Given the description of an element on the screen output the (x, y) to click on. 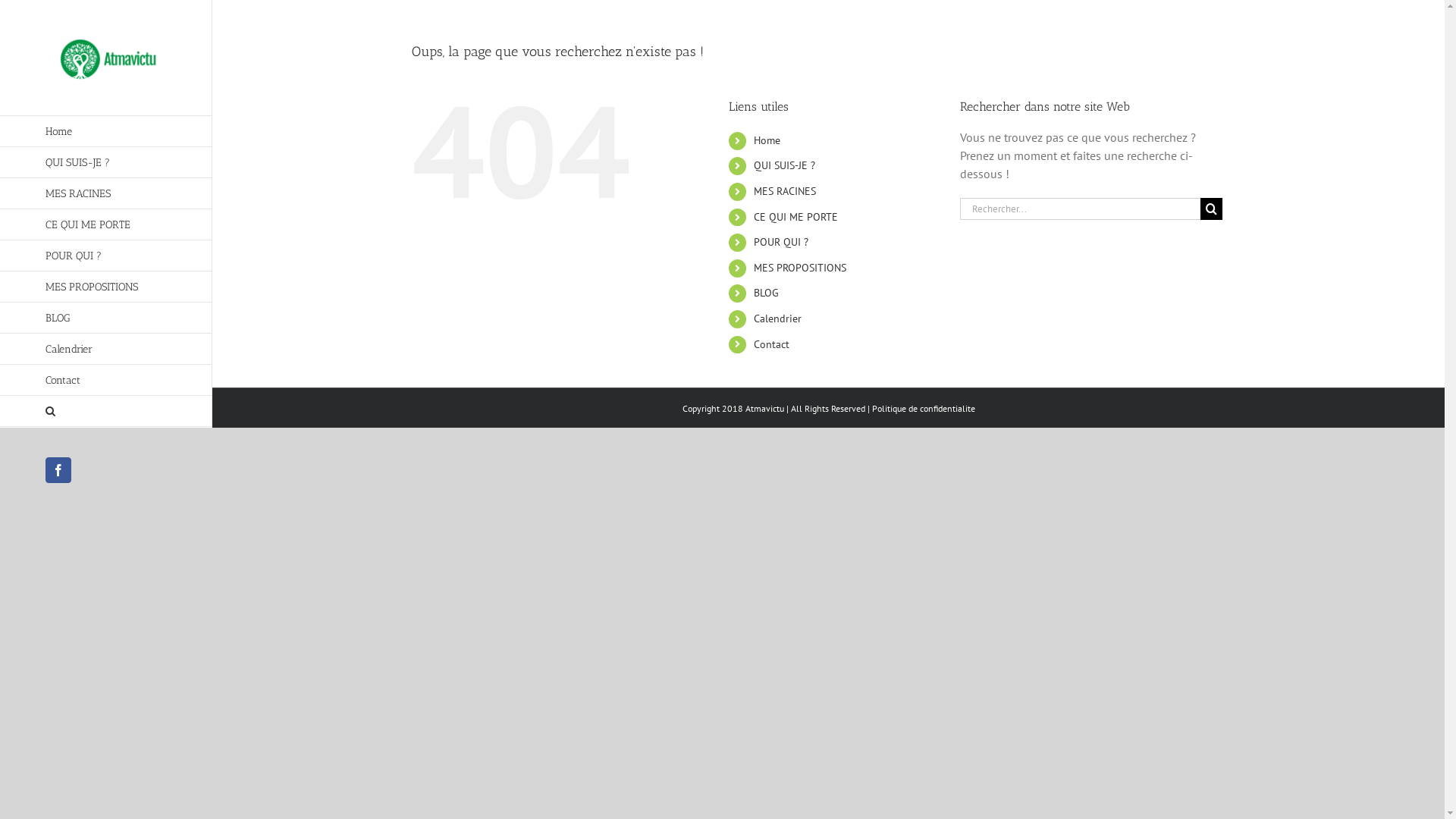
Home Element type: text (766, 140)
CE QUI ME PORTE Element type: text (795, 216)
Calendrier Element type: text (106, 348)
Recherche Element type: hover (106, 410)
POUR QUI ? Element type: text (780, 241)
BLOG Element type: text (106, 317)
CE QUI ME PORTE Element type: text (106, 224)
Contact Element type: text (771, 344)
QUI SUIS-JE ? Element type: text (106, 162)
MES PROPOSITIONS Element type: text (106, 286)
Facebook Element type: text (58, 470)
Contact Element type: text (106, 379)
MES PROPOSITIONS Element type: text (799, 267)
MES RACINES Element type: text (106, 193)
Calendrier Element type: text (777, 318)
MES RACINES Element type: text (784, 190)
Politique de confidentialite Element type: text (923, 408)
Home Element type: text (106, 131)
POUR QUI ? Element type: text (106, 255)
BLOG Element type: text (765, 292)
QUI SUIS-JE ? Element type: text (784, 165)
